Given the description of an element on the screen output the (x, y) to click on. 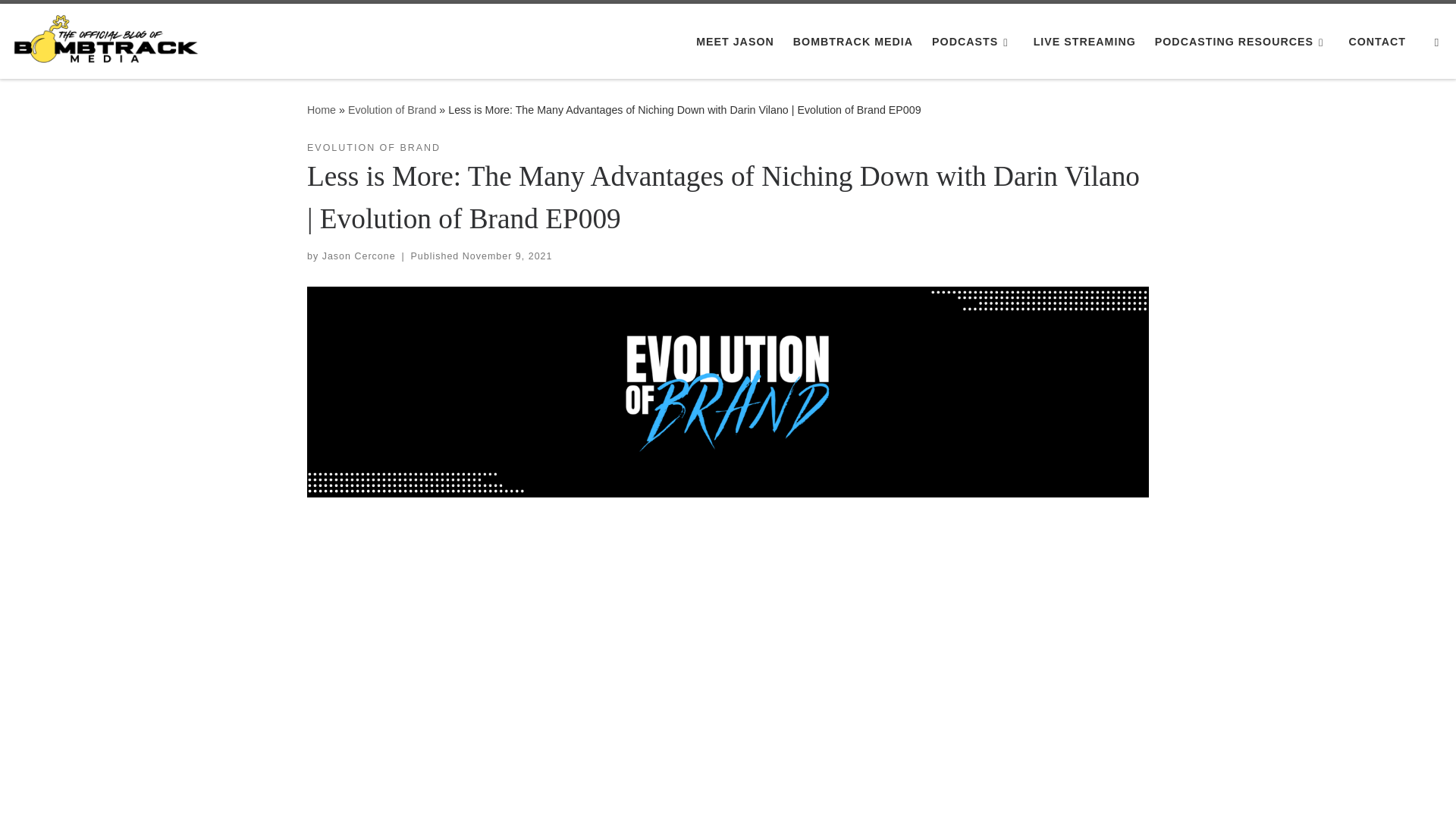
Skip to content (60, 20)
View all posts by Jason Cercone (358, 255)
Evolution of Brand (391, 110)
PODCASTS (973, 41)
1:01 am (508, 255)
Home (321, 110)
MEET JASON (734, 41)
LIVE STREAMING (1083, 41)
CONTACT (1376, 41)
The Official Blog of Bombtrack Media (321, 110)
BOMBTRACK MEDIA (853, 41)
View all posts in Evolution of Brand (374, 147)
PODCASTING RESOURCES (1242, 41)
